Given the description of an element on the screen output the (x, y) to click on. 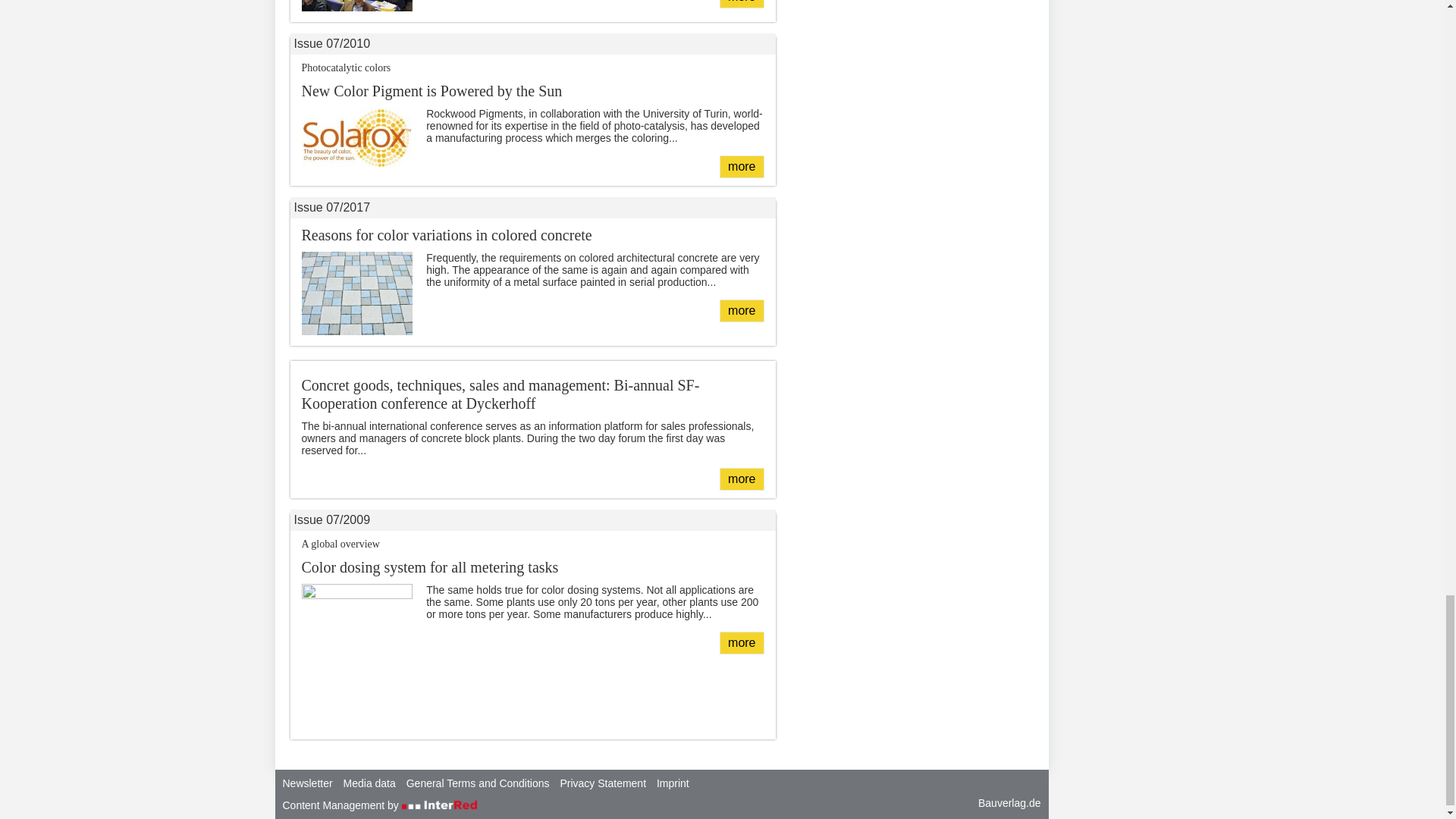
New Color Pigment is Powered by the Sun (740, 310)
Plant manager conference 2016: Concentrated expertise (740, 166)
Color dosing system for all metering tasks (740, 4)
